Given the description of an element on the screen output the (x, y) to click on. 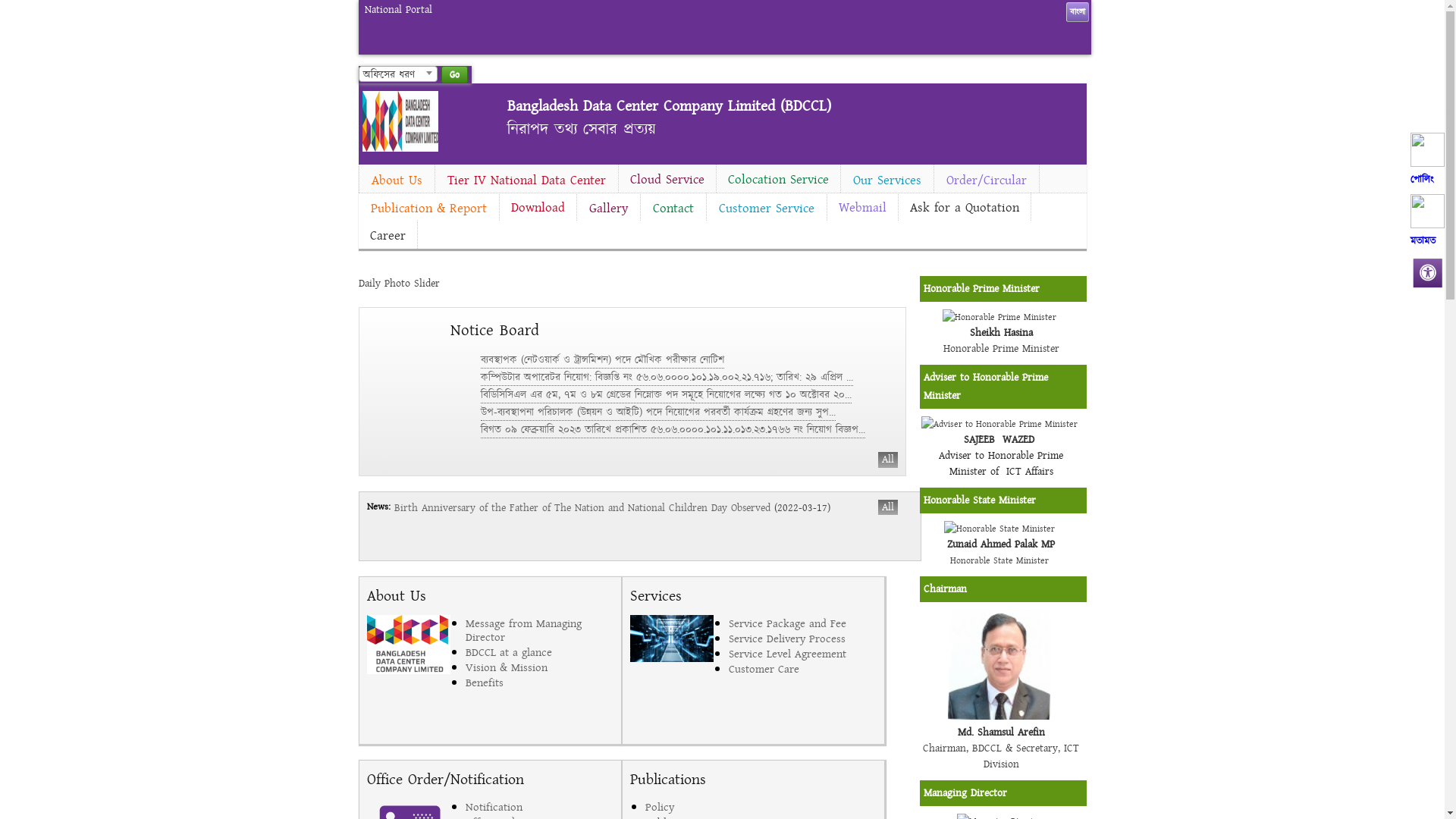
Bangladesh Data Center Company Limited (BDCCL) Element type: text (668, 105)
Message from Managing Director Element type: text (539, 629)
Gallery Element type: text (607, 208)
Policy Element type: text (718, 806)
Download Element type: text (536, 207)
All Element type: text (887, 506)
Notification Element type: text (539, 806)
Service Delivery Process Element type: text (801, 638)
Career Element type: text (386, 235)
Go Element type: text (454, 74)
Vision & Mission Element type: text (539, 667)
Ask for a Quotation Element type: text (963, 207)
BDCCL at a glance Element type: text (539, 651)
Service Level Agreement Element type: text (801, 653)
National Portal Element type: text (396, 10)
Our Services Element type: text (886, 180)
Publication & Report Element type: text (427, 208)
Webmail Element type: text (861, 207)
Tier IV National Data Center Element type: text (526, 180)
Cloud Service Element type: text (666, 179)
Customer Service Element type: text (766, 208)
Order/Circular Element type: text (986, 180)
Contact Element type: text (672, 208)
About Us Element type: text (396, 180)
Benefits Element type: text (539, 682)
All Element type: text (887, 459)
Service Package and Fee Element type: text (801, 623)
Customer Care Element type: text (801, 668)
Colocation Service Element type: text (777, 179)
